Given the description of an element on the screen output the (x, y) to click on. 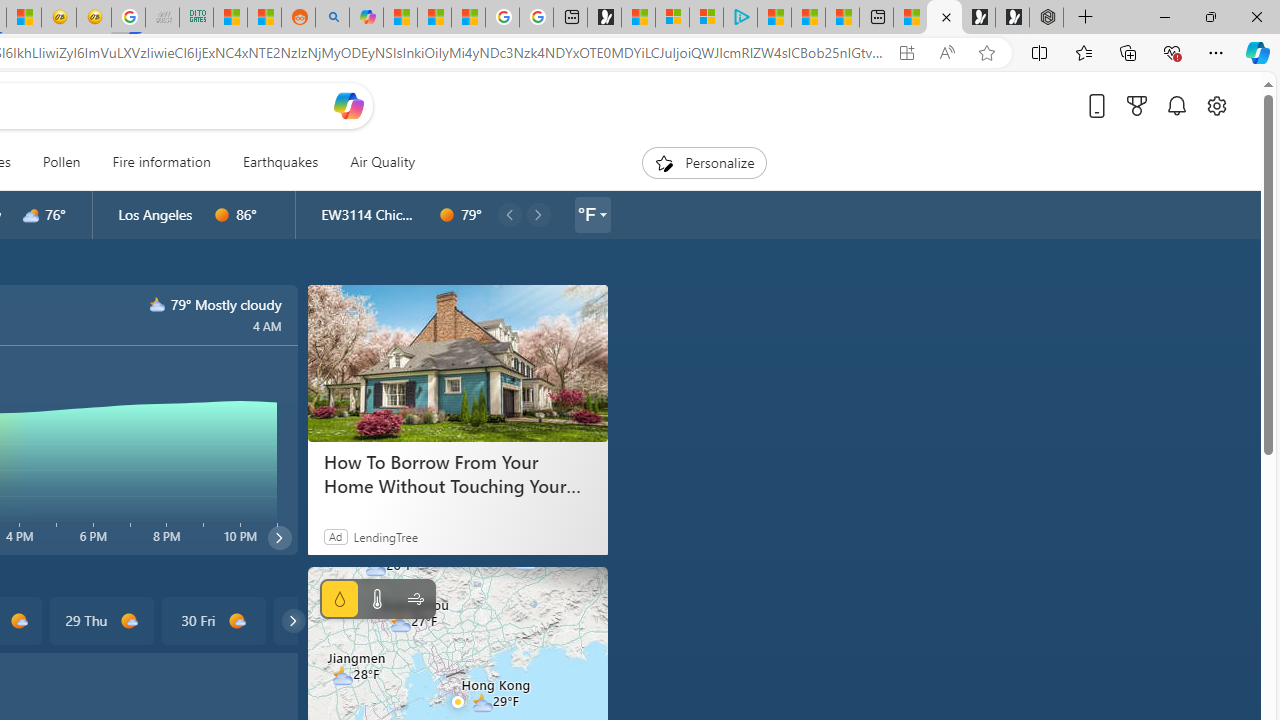
31 Sat d1000 (324, 620)
Earthquakes (279, 162)
Air Quality (375, 162)
Microsoft Copilot in Bing (365, 17)
Air Quality (382, 162)
Fire information (161, 162)
